Given the description of an element on the screen output the (x, y) to click on. 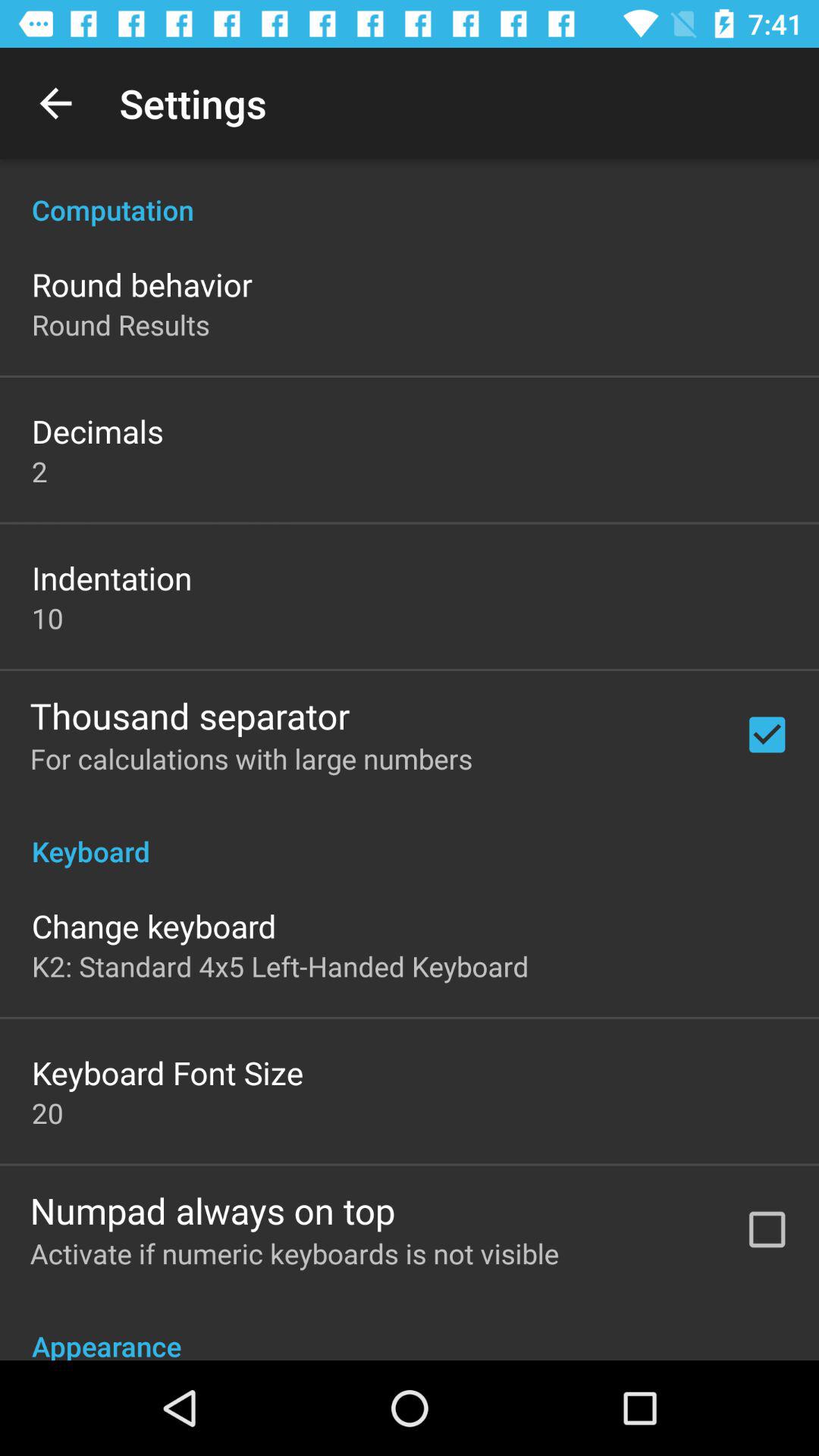
click app above decimals (120, 324)
